Given the description of an element on the screen output the (x, y) to click on. 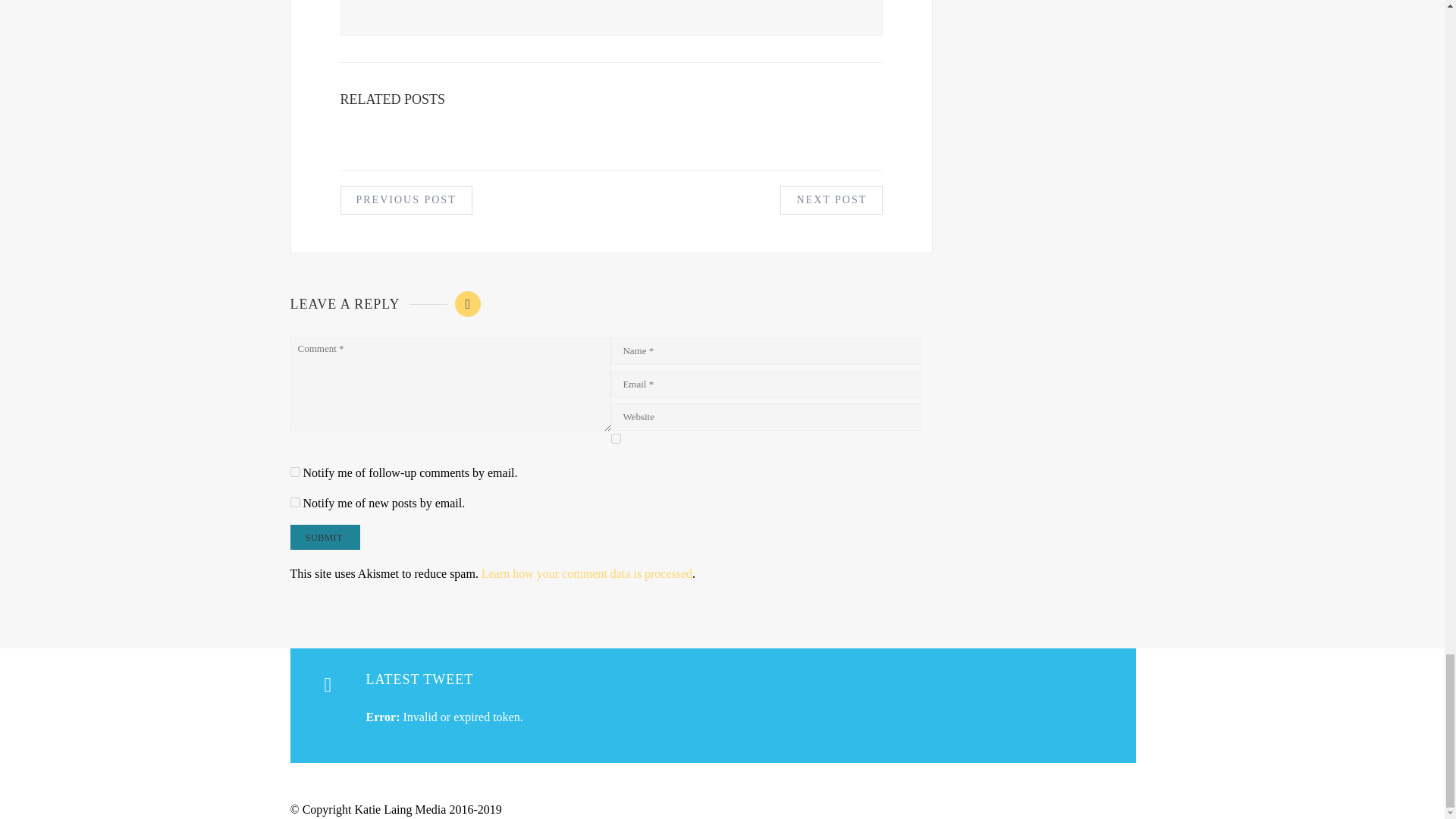
subscribe (294, 471)
Submit  (324, 536)
subscribe (294, 501)
yes (616, 438)
